Given the description of an element on the screen output the (x, y) to click on. 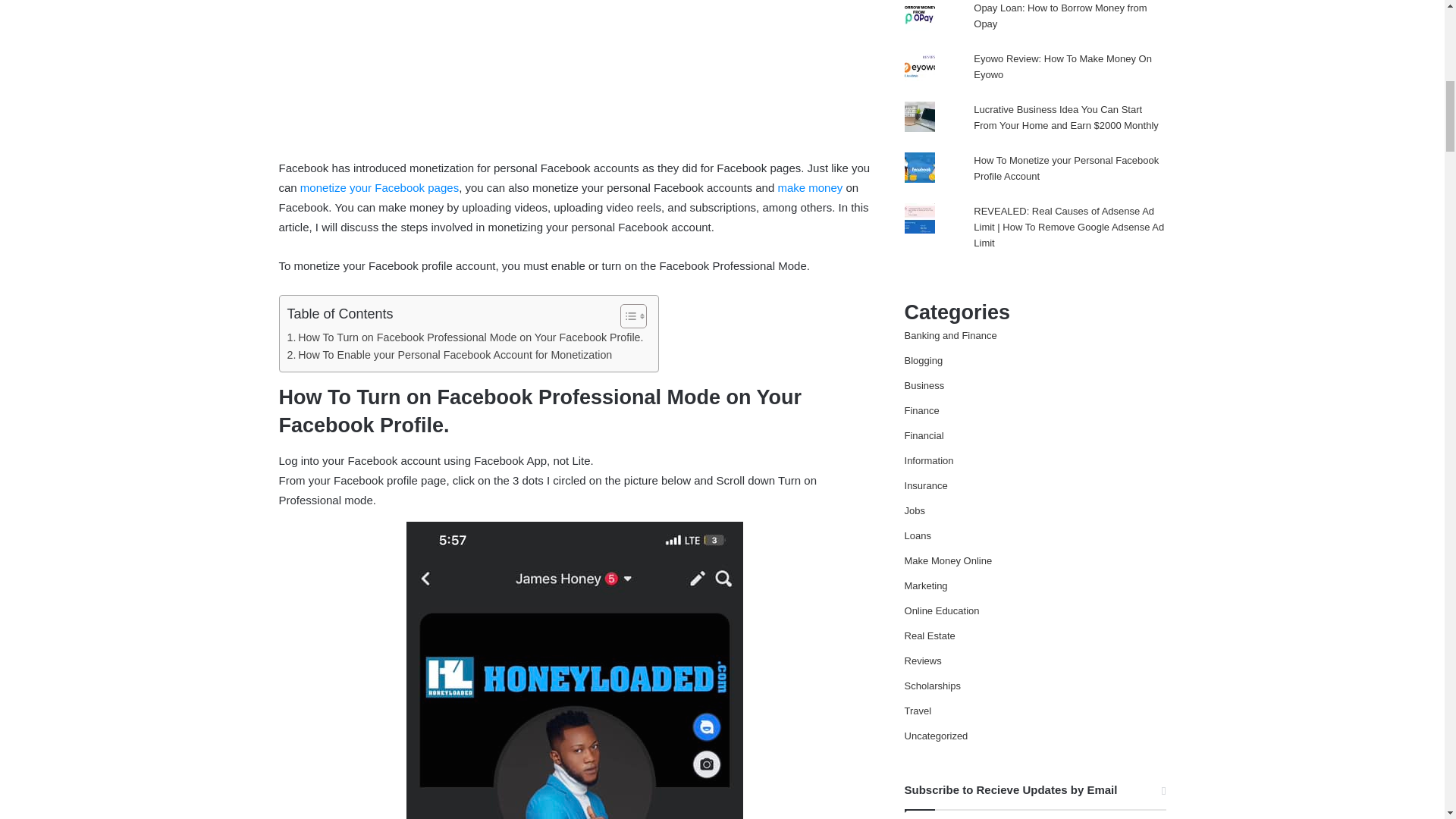
Advertisement (574, 76)
monetize your Facebook pages (378, 187)
make money (810, 187)
